Given the description of an element on the screen output the (x, y) to click on. 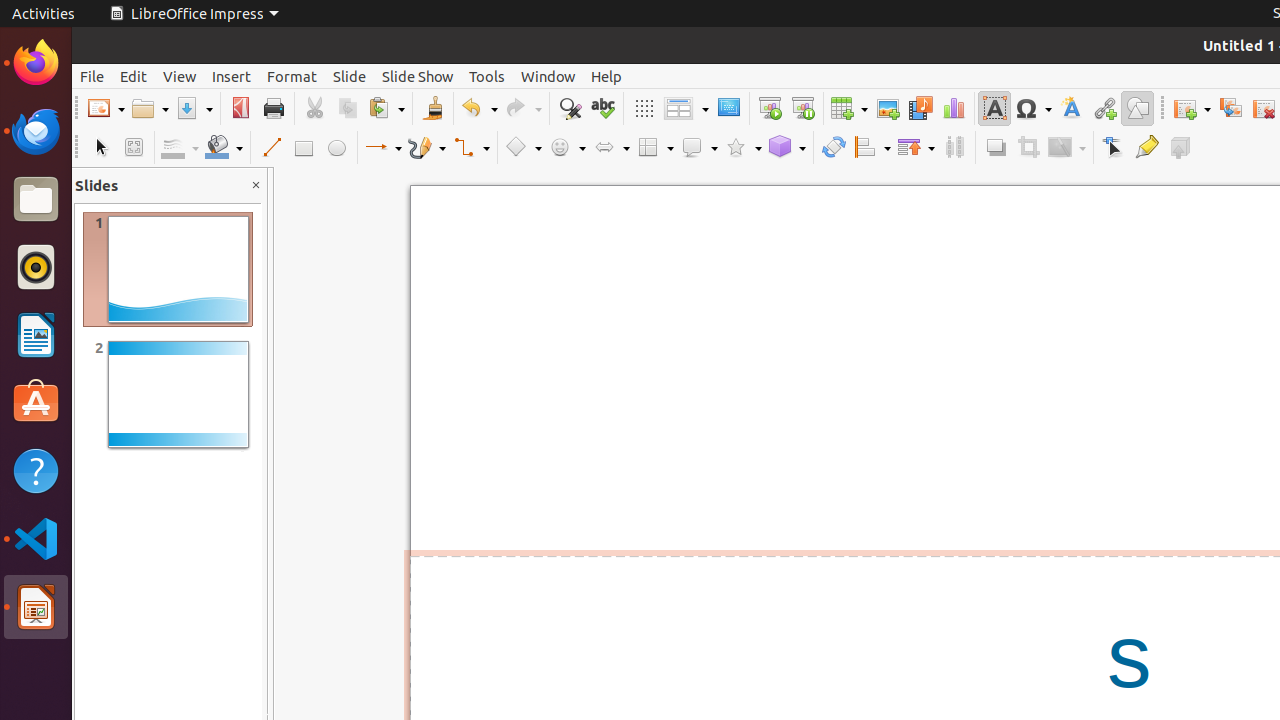
New Slide Element type: push-button (1192, 108)
Distribution Element type: push-button (954, 147)
Edit Points Element type: push-button (1113, 147)
Zoom & Pan Element type: push-button (133, 147)
LibreOffice Impress Element type: menu (193, 13)
